Given the description of an element on the screen output the (x, y) to click on. 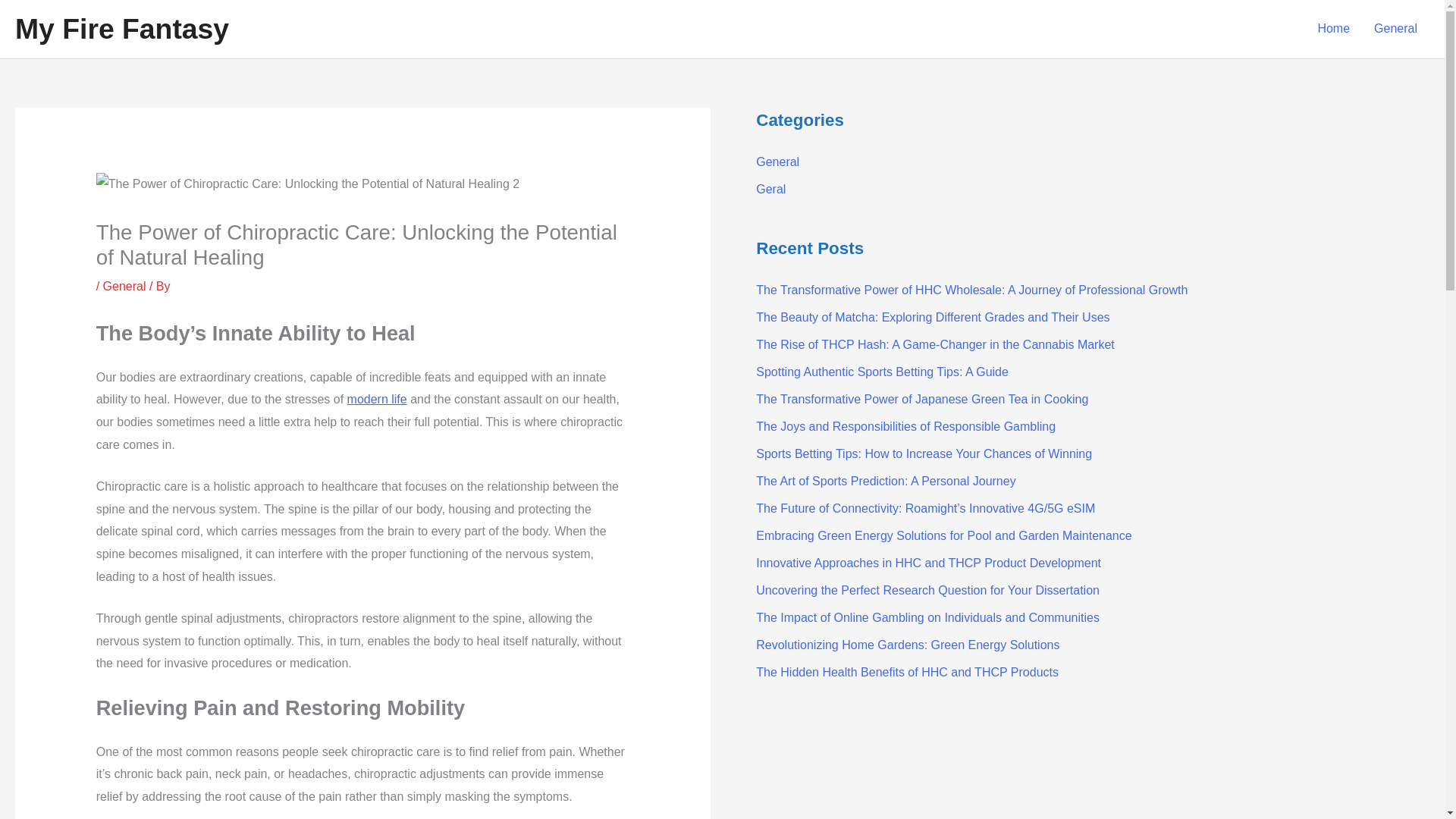
The Impact of Online Gambling on Individuals and Communities (927, 617)
My Fire Fantasy (121, 29)
Home (1332, 28)
modern life (377, 399)
Spotting Authentic Sports Betting Tips: A Guide (882, 371)
The Art of Sports Prediction: A Personal Journey (884, 481)
The Joys and Responsibilities of Responsible Gambling (905, 426)
Revolutionizing Home Gardens: Green Energy Solutions (907, 644)
Innovative Approaches in HHC and THCP Product Development (927, 562)
The Rise of THCP Hash: A Game-Changer in the Cannabis Market (935, 344)
Geral (770, 188)
General (777, 161)
General (125, 286)
